Given the description of an element on the screen output the (x, y) to click on. 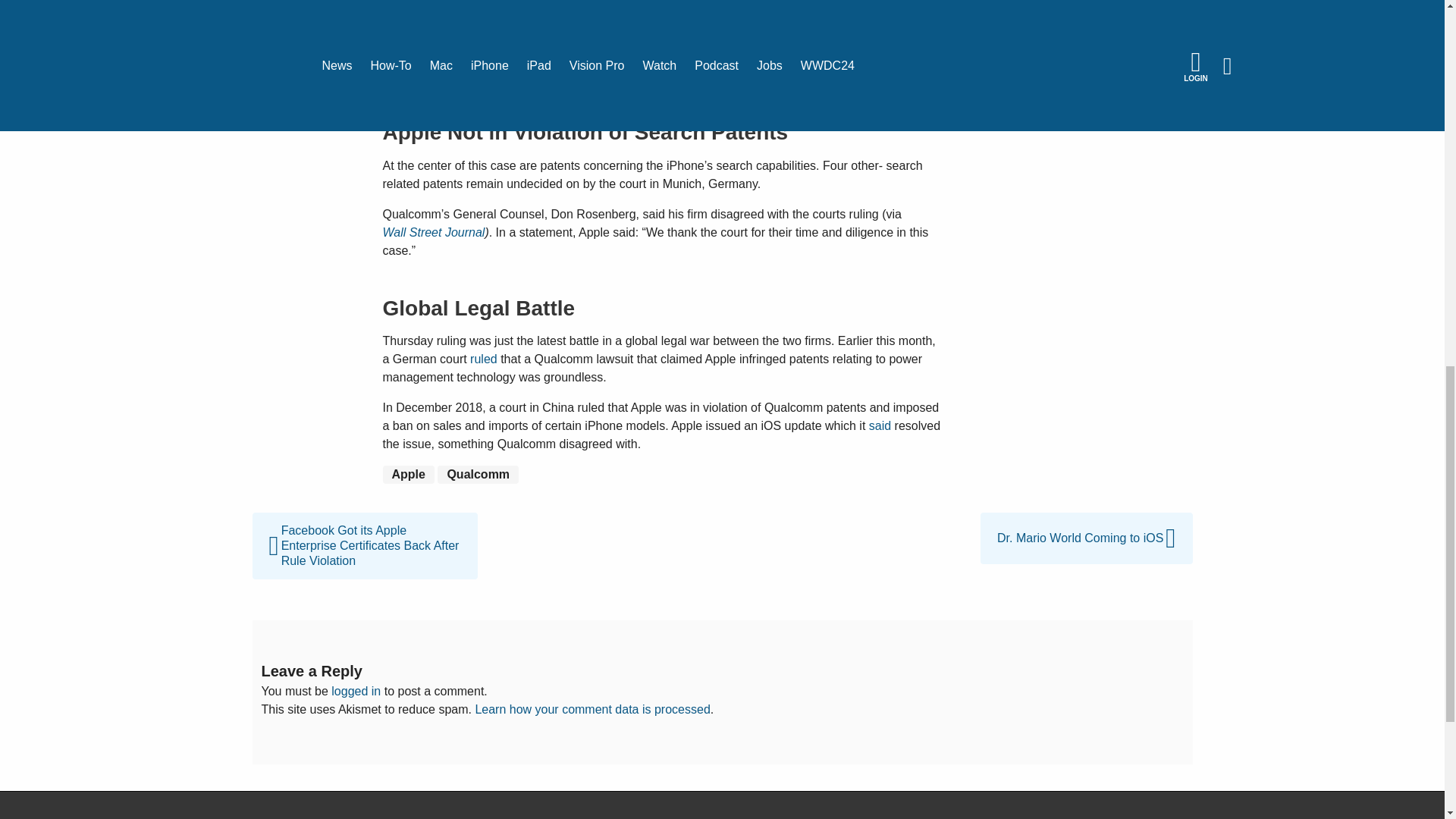
Learn how your comment data is processed (592, 708)
Apple (407, 475)
Dr. Mario World Coming to iOS (1085, 521)
said (880, 425)
logged in (355, 690)
Qualcomm (478, 475)
Wall Street Journal (432, 232)
ruled (483, 358)
